Given the description of an element on the screen output the (x, y) to click on. 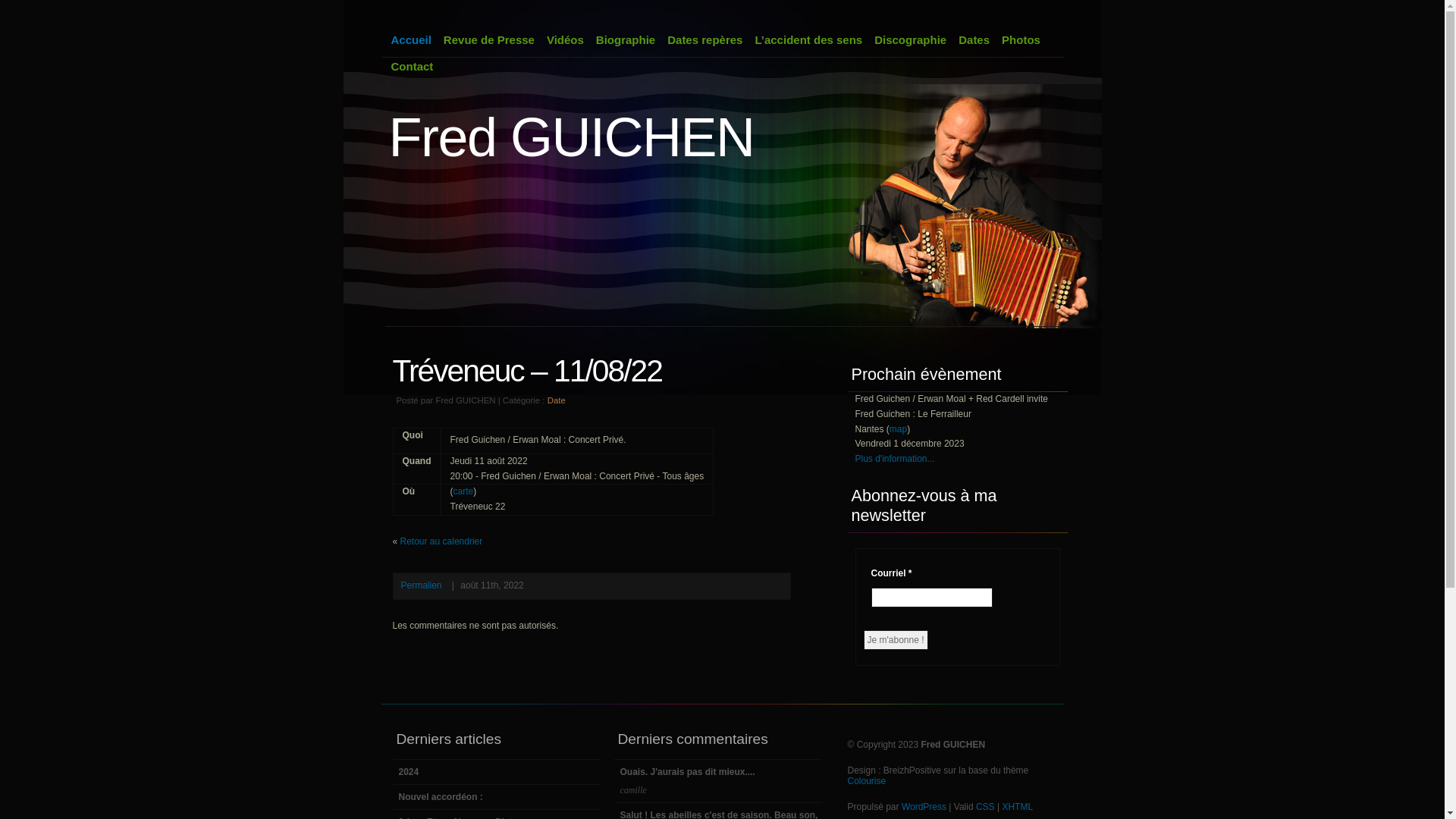
2024 Element type: text (497, 771)
Contact Element type: text (412, 66)
Accueil Element type: text (411, 39)
Revue de Presse Element type: text (488, 39)
Je m'abonne ! Element type: text (894, 639)
Permalien Element type: text (420, 585)
WordPress Element type: text (923, 806)
Biographie Element type: text (625, 39)
map Element type: text (897, 428)
Colourise Element type: text (866, 780)
Retour au calendrier Element type: text (441, 541)
Fred GUICHEN Element type: text (570, 137)
Photos Element type: text (1020, 39)
Courriel Element type: hover (930, 597)
CSS Element type: text (984, 806)
XHTML Element type: text (1016, 806)
Date Element type: text (556, 399)
Discographie Element type: text (910, 39)
Plus d'information... Element type: text (895, 458)
carte Element type: text (463, 491)
Dates Element type: text (973, 39)
Ouais. J'aurais pas dit mieux....
camille Element type: text (719, 780)
